Given the description of an element on the screen output the (x, y) to click on. 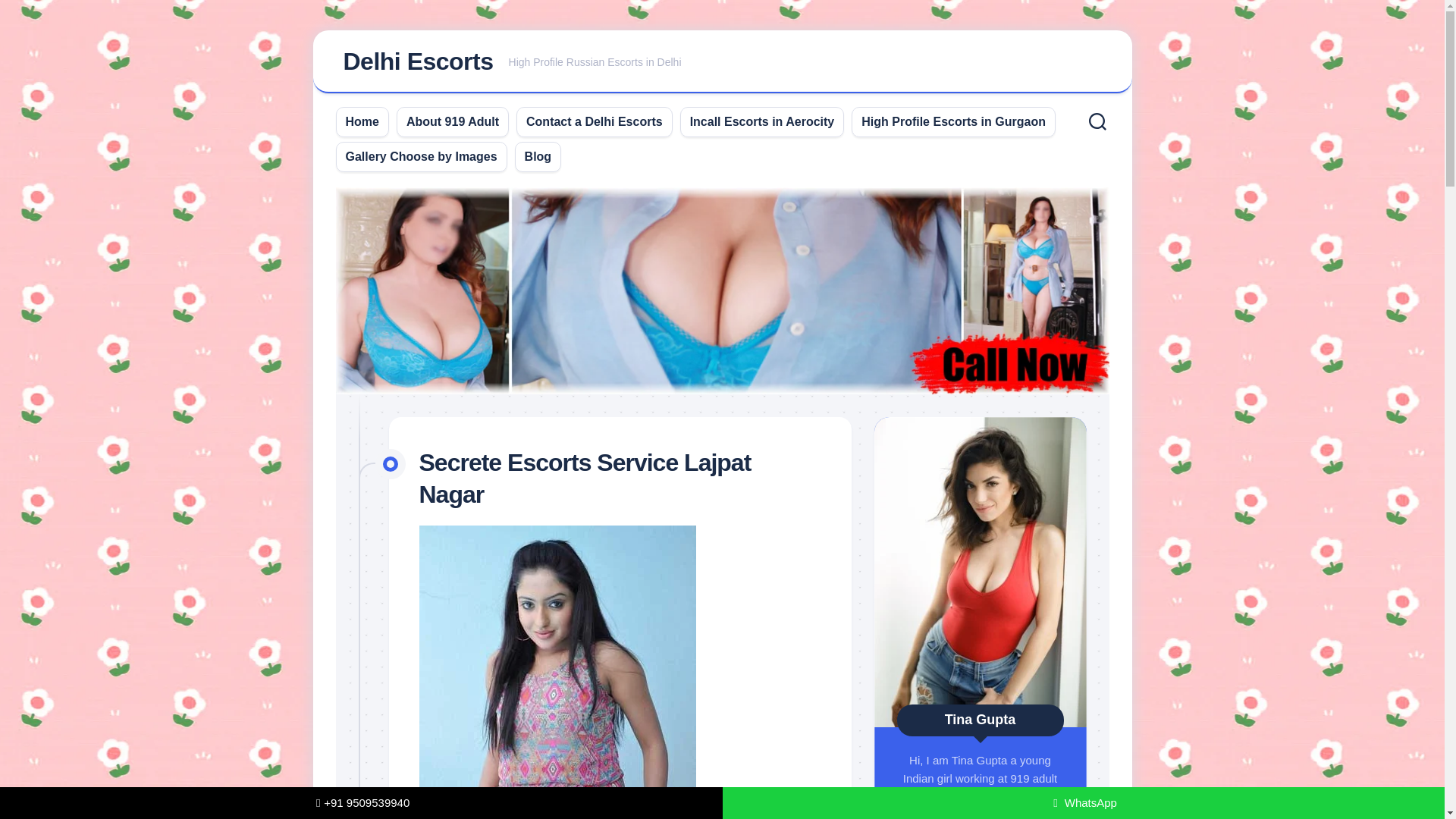
Gallery Choose by Images (722, 62)
Home (421, 156)
Delhi Escorts (362, 121)
Blog (417, 61)
Incall Escorts in Aerocity (537, 156)
High Profile Escorts in Gurgaon (762, 121)
Contact a Delhi Escorts (953, 121)
About 919 Adult (593, 121)
